Given the description of an element on the screen output the (x, y) to click on. 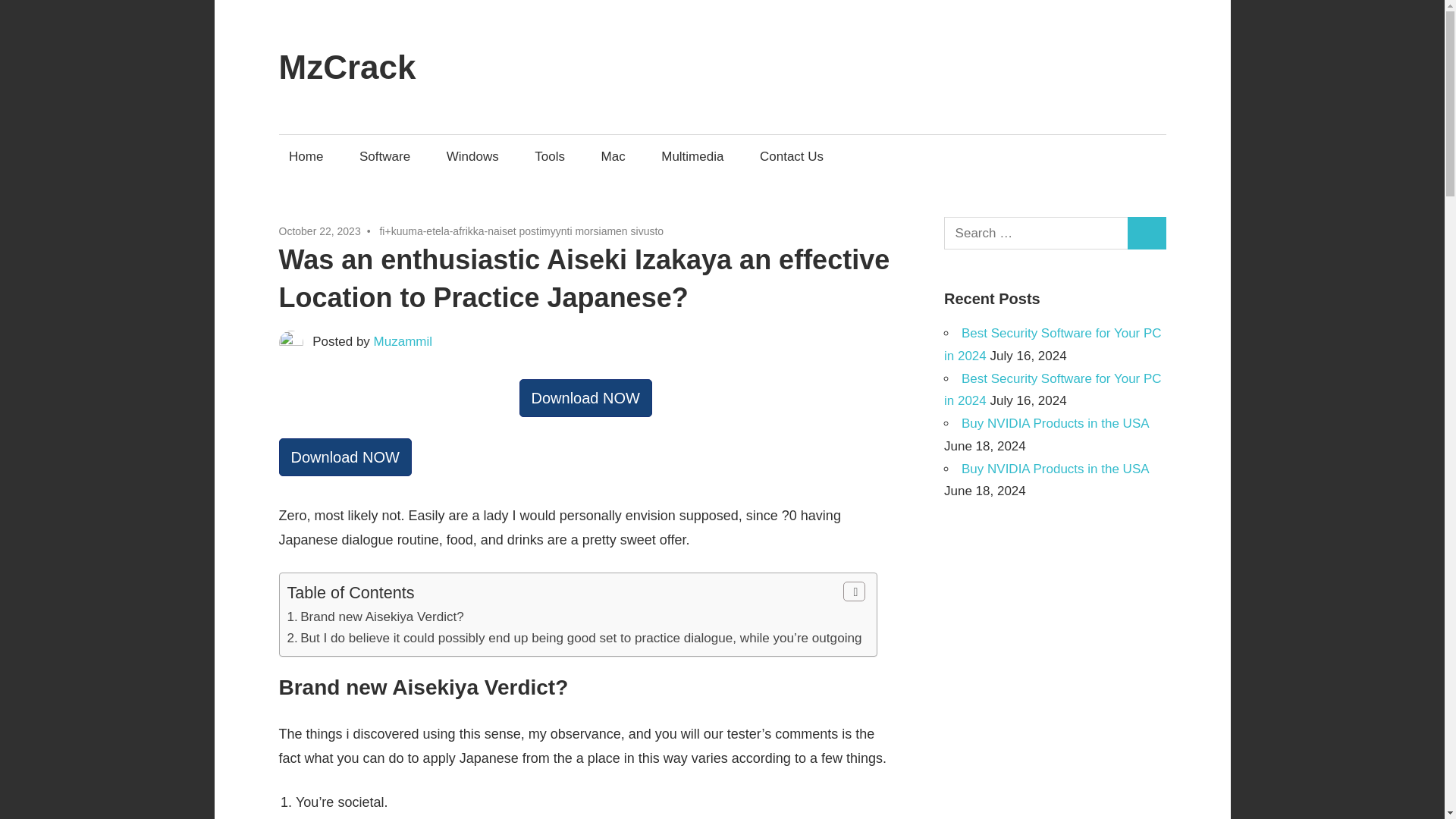
Muzammil (403, 341)
Home (306, 156)
MzCrack (347, 66)
Tools (549, 156)
Contact Us (790, 156)
4:19 pm (320, 231)
October 22, 2023 (320, 231)
View all posts by Muzammil (403, 341)
Search for: (1035, 233)
Software (384, 156)
